Given the description of an element on the screen output the (x, y) to click on. 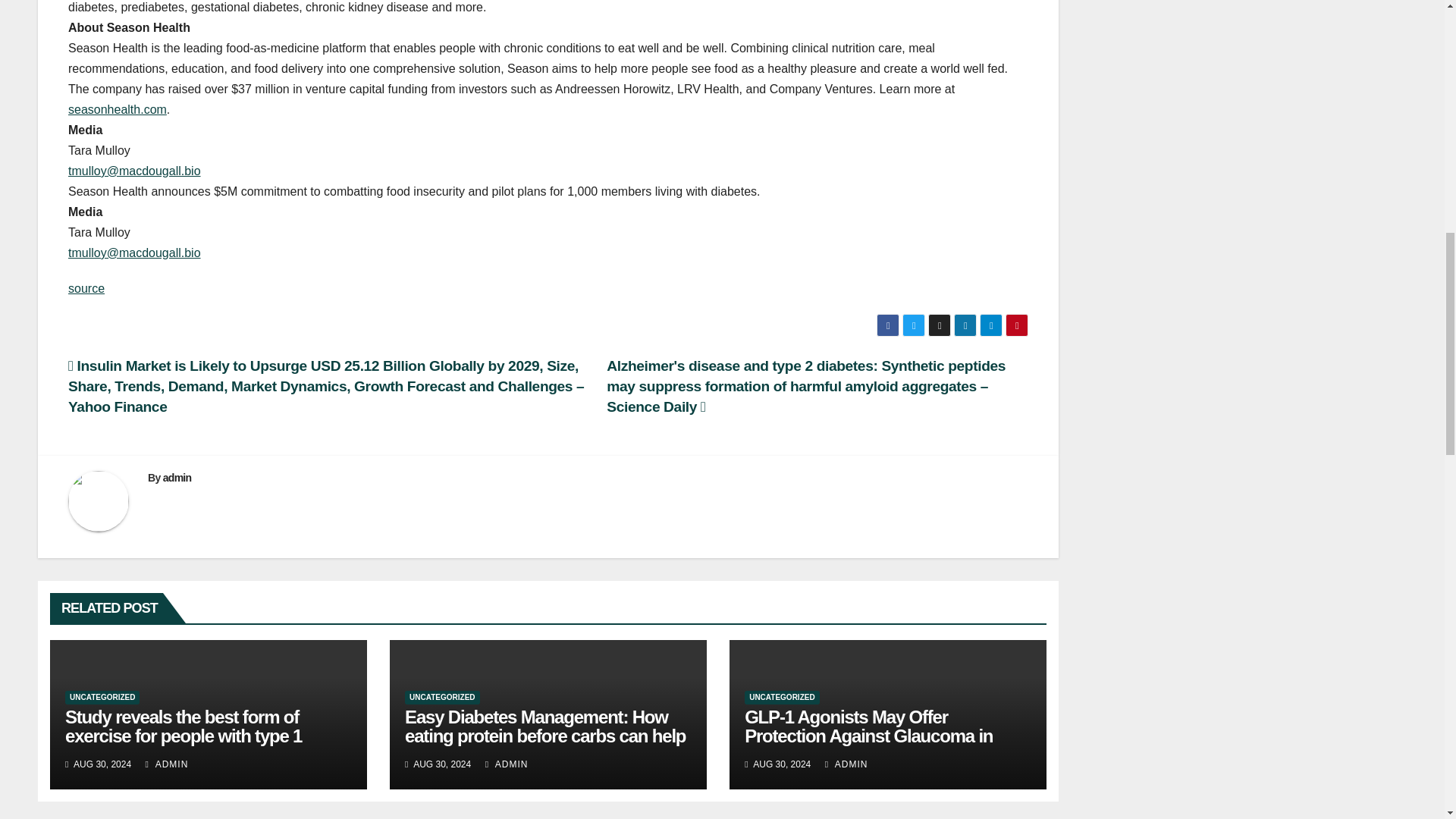
UNCATEGORIZED (102, 697)
ADMIN (506, 764)
UNCATEGORIZED (781, 697)
admin (177, 477)
ADMIN (167, 764)
UNCATEGORIZED (441, 697)
ADMIN (846, 764)
source (86, 287)
seasonhealth.com (117, 109)
